Given the description of an element on the screen output the (x, y) to click on. 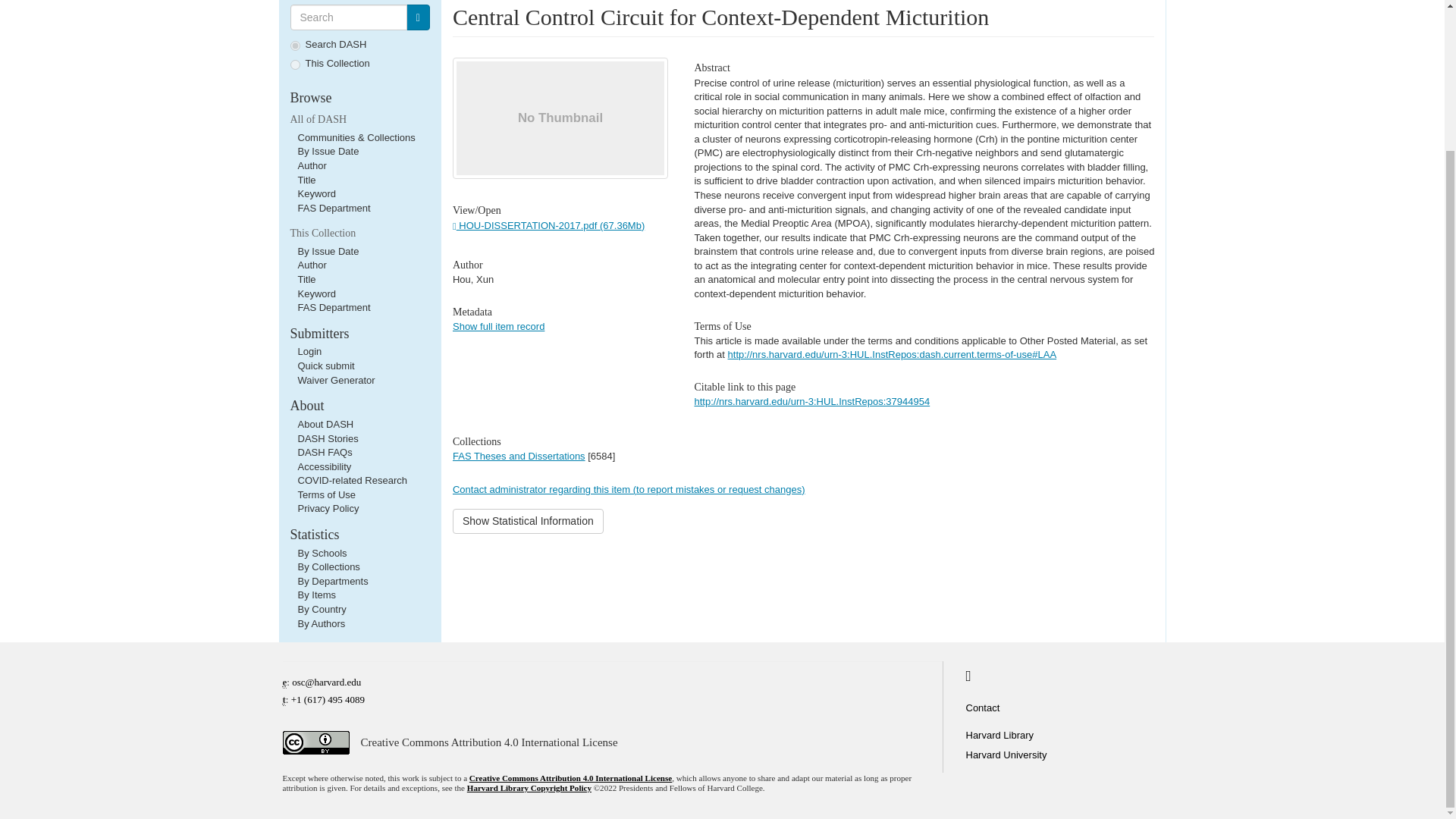
FAS Department (333, 207)
Go (417, 17)
Keyword (316, 293)
FAS Department (333, 307)
Title (306, 279)
Login (309, 351)
Quick submit (325, 365)
Author (311, 265)
By Issue Date (327, 151)
Author (311, 165)
By Issue Date (327, 251)
Keyword (316, 193)
Title (306, 179)
